Given the description of an element on the screen output the (x, y) to click on. 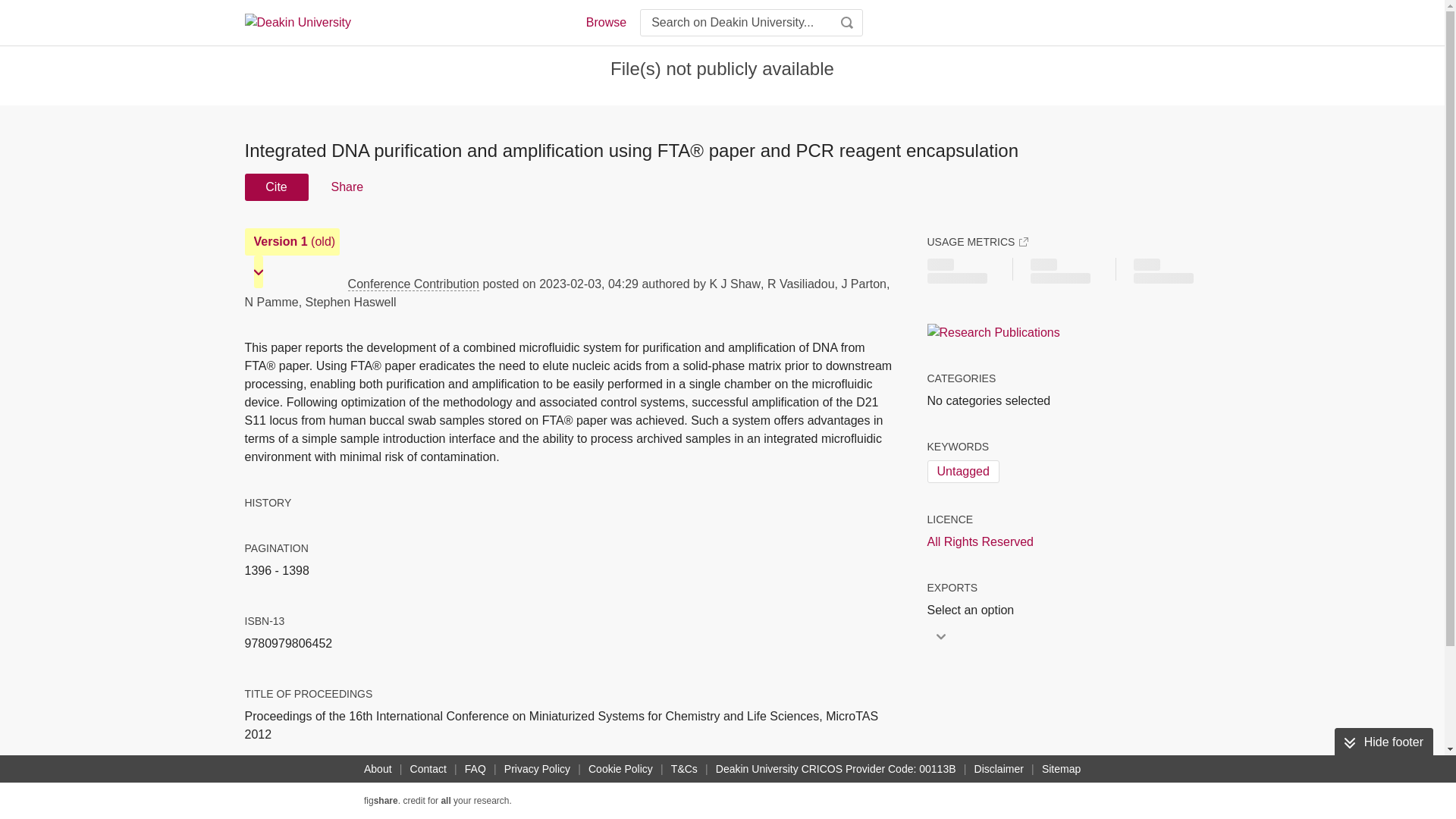
Deakin University CRICOS Provider Code: 00113B (835, 769)
Privacy Policy (537, 769)
Sitemap (1060, 769)
Disclaimer (998, 769)
Cite (275, 186)
Cookie Policy (620, 769)
USAGE METRICS (976, 241)
Untagged (962, 471)
Browse (605, 22)
Hide footer (1383, 742)
